Given the description of an element on the screen output the (x, y) to click on. 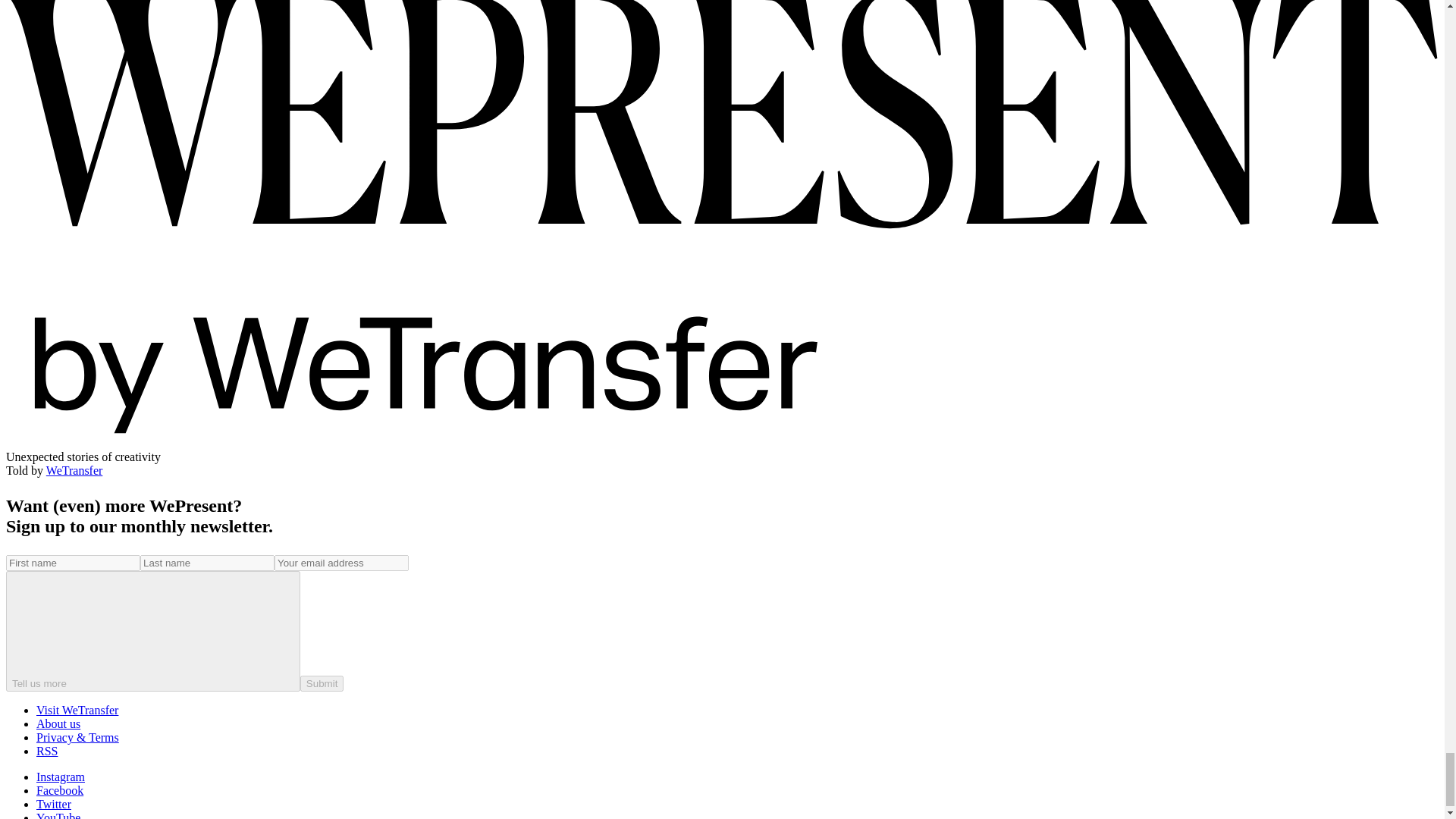
Facebook (59, 789)
Submit (321, 683)
Twitter (53, 803)
RSS (47, 750)
Instagram (60, 776)
WeTransfer (74, 470)
About us (58, 723)
Tell us more (152, 630)
Visit WeTransfer (76, 709)
